Given the description of an element on the screen output the (x, y) to click on. 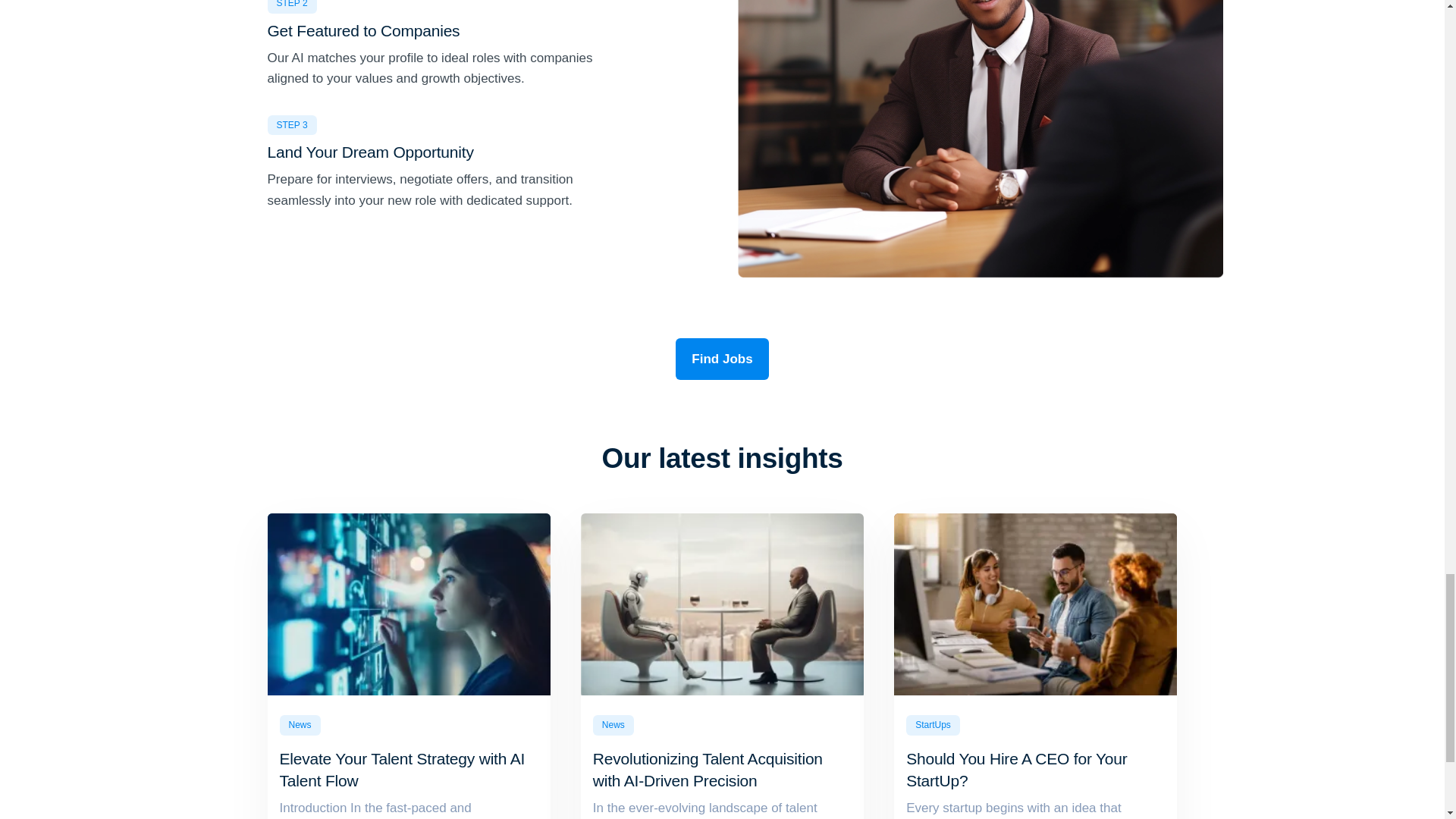
Find Jobs (721, 359)
